Given the description of an element on the screen output the (x, y) to click on. 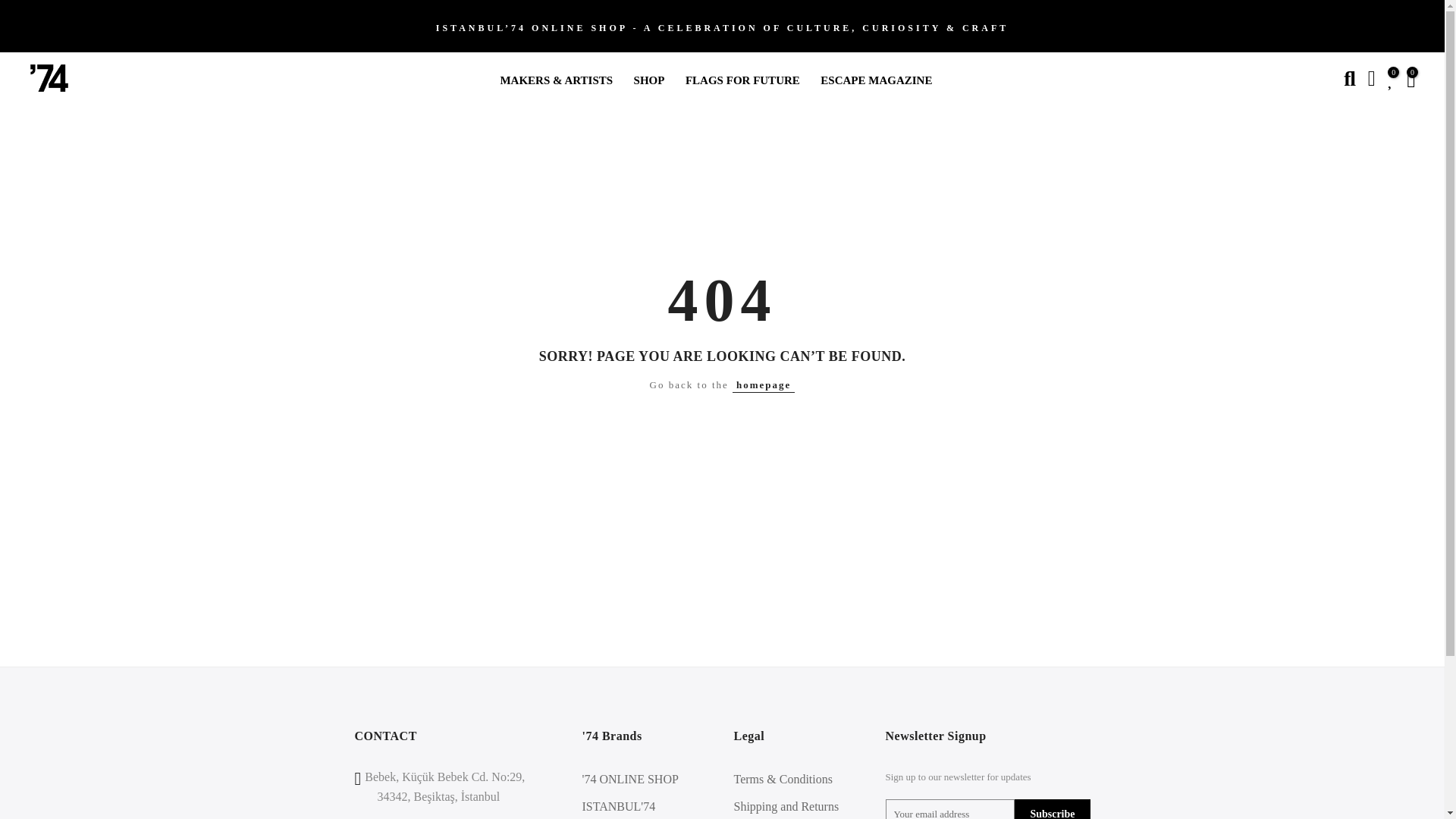
ESCAPE MAGAZINE (875, 78)
FLAGS FOR FUTURE (741, 78)
SHOP (648, 78)
homepage (763, 385)
'74 ONLINE SHOP (630, 779)
ISTANBUL'74 (619, 806)
0 (1390, 78)
0 (1410, 78)
